Given the description of an element on the screen output the (x, y) to click on. 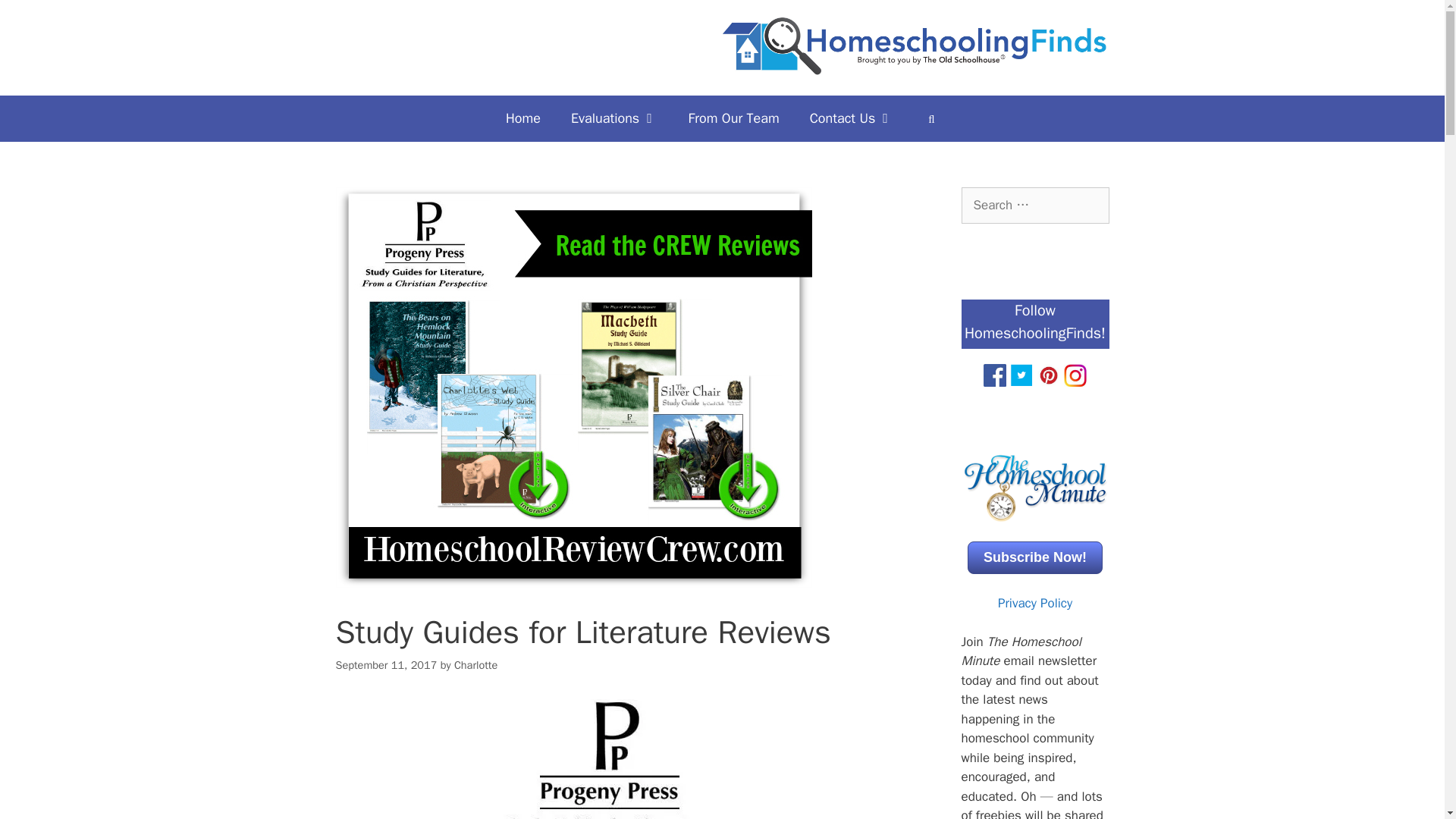
From Our Team (733, 117)
View all posts by Charlotte (475, 664)
Search for: (1034, 205)
Evaluations (614, 117)
Charlotte (475, 664)
Contact Us (851, 117)
Home (523, 117)
